Given the description of an element on the screen output the (x, y) to click on. 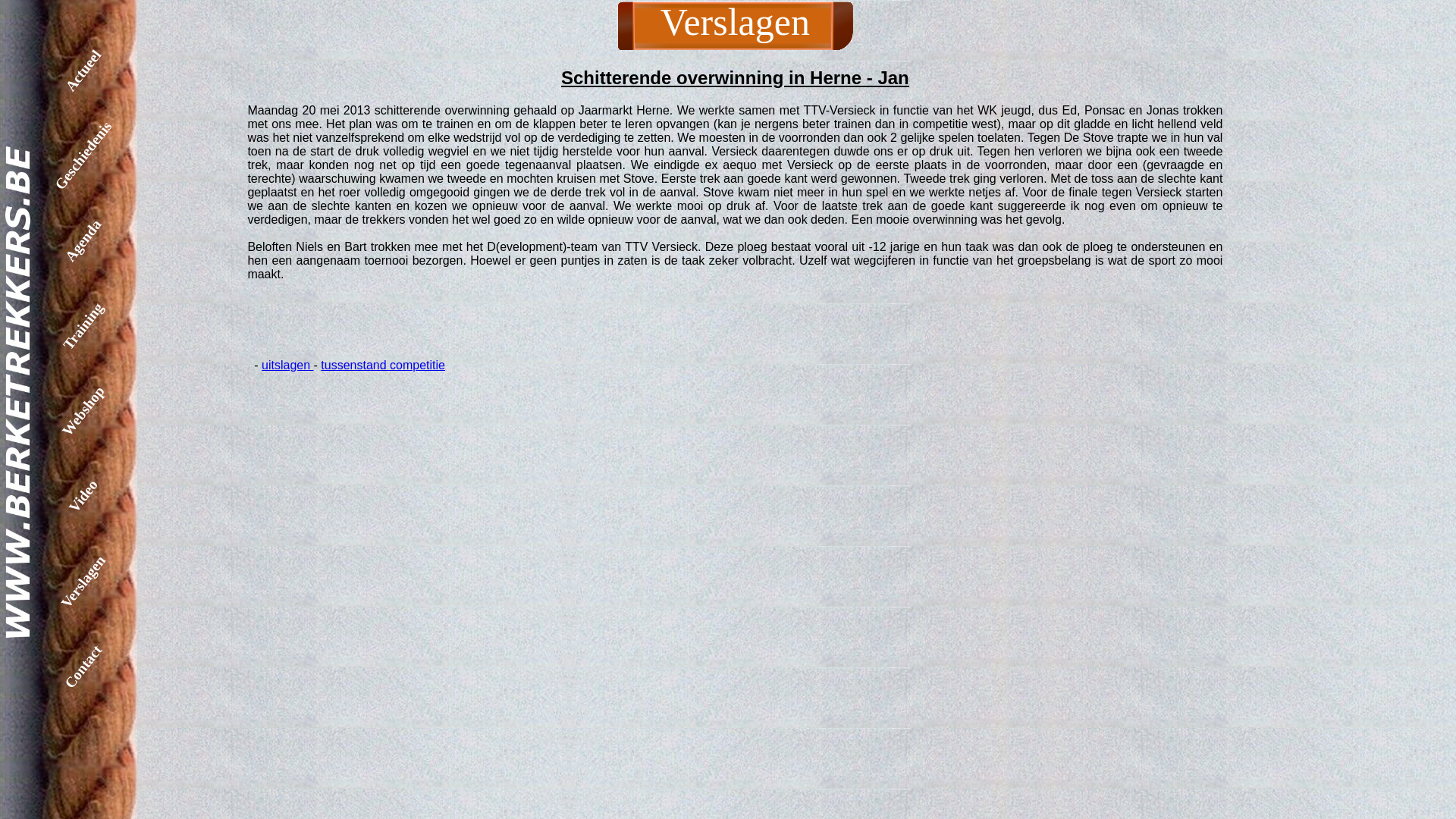
Agenda Element type: text (119, 190)
Training Element type: text (119, 275)
Geschiedenis Element type: text (119, 105)
Verslagen Element type: text (119, 531)
Video Element type: text (119, 446)
Contact Element type: text (119, 616)
uitslagen Element type: text (287, 364)
tussenstand competitie Element type: text (382, 364)
Webshop Element type: text (119, 361)
